Given the description of an element on the screen output the (x, y) to click on. 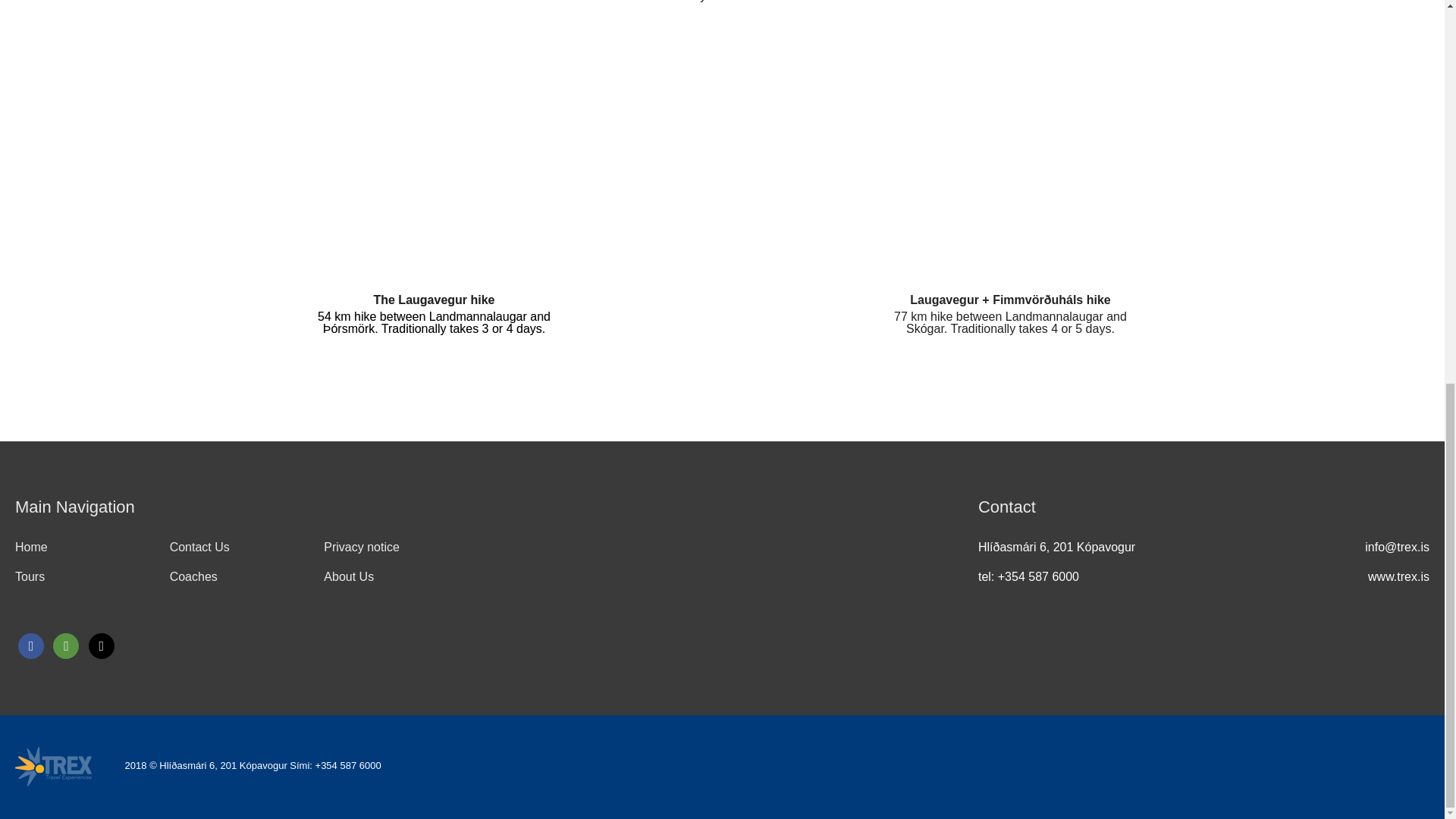
The Laugavegur hike (433, 299)
Home (31, 546)
Coaches (193, 576)
About Us (348, 576)
Tours (29, 576)
Privacy notice (360, 546)
Contact Us (200, 546)
